Given the description of an element on the screen output the (x, y) to click on. 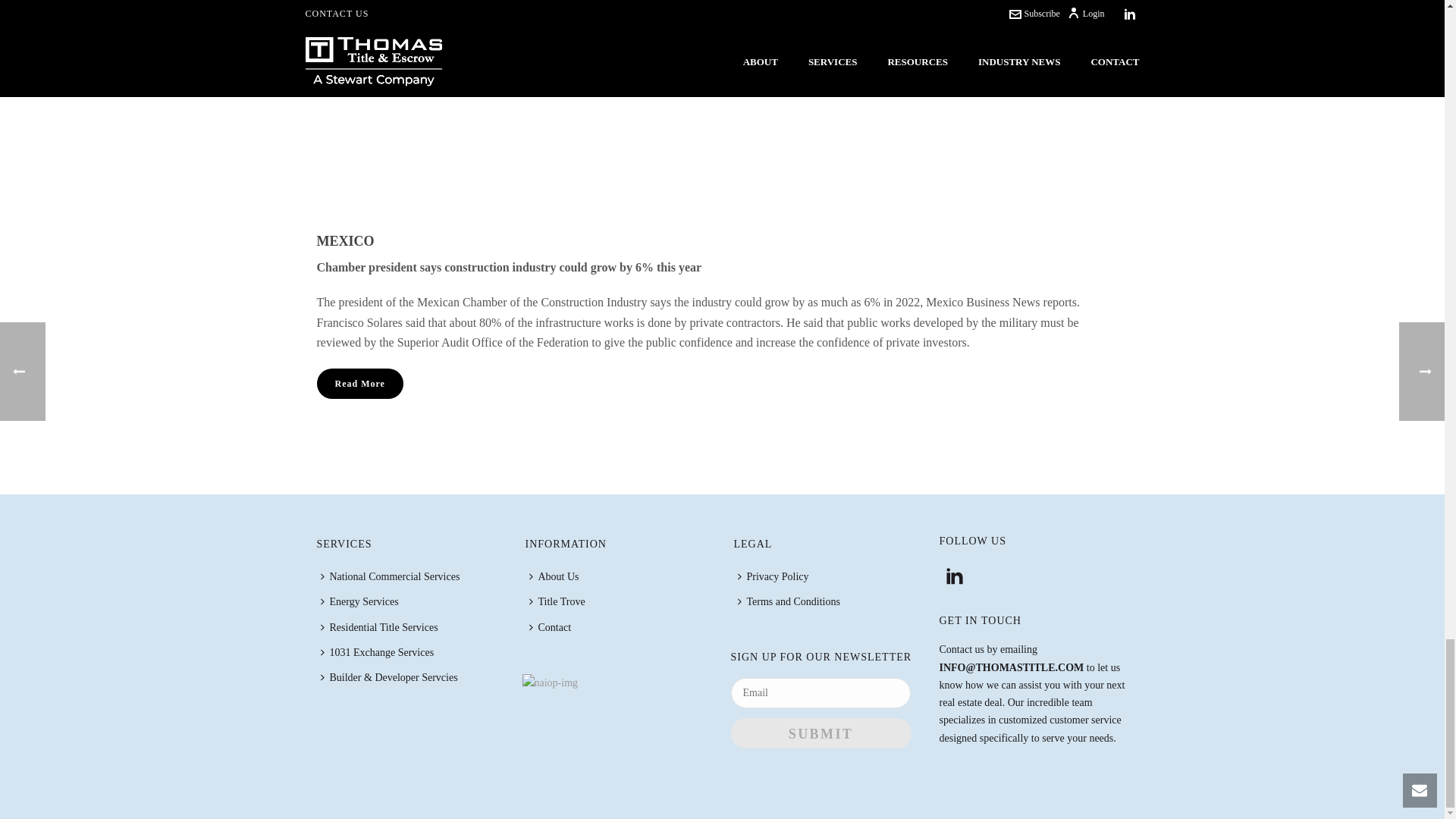
SUBMIT (820, 733)
Read More (360, 383)
